Given the description of an element on the screen output the (x, y) to click on. 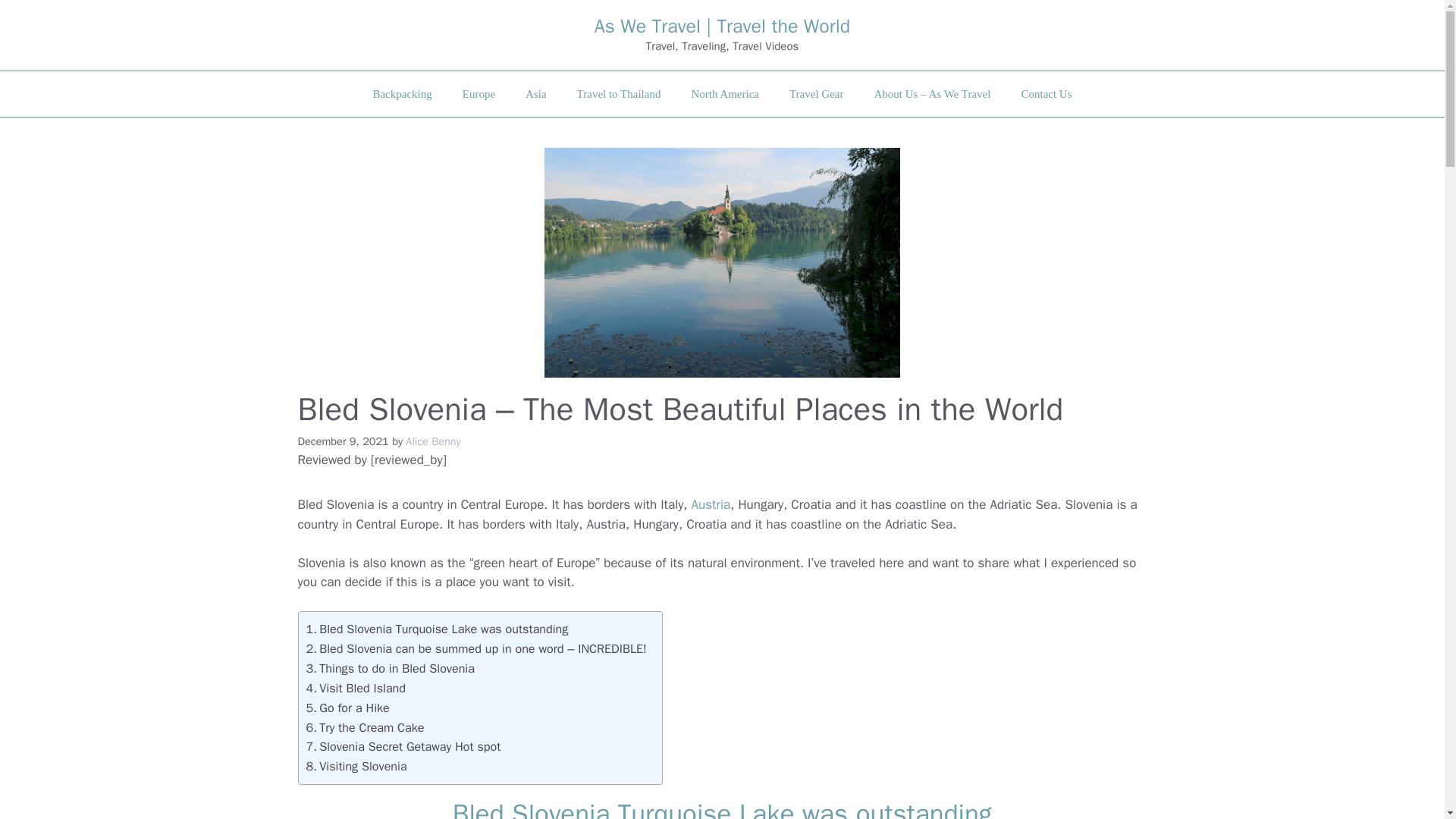
Go for a Hike (347, 708)
North America (724, 94)
Visiting Slovenia (356, 766)
Alice Benny (433, 440)
Things to do in Bled Slovenia (389, 668)
Travel to Thailand (619, 94)
Slovenia Secret Getaway Hot spot (402, 746)
Visit Bled Island (355, 688)
Travel Gear (816, 94)
Go for a Hike (347, 708)
Bled Slovenia Turquoise Lake was outstanding (437, 629)
Contact Us (1046, 94)
View all posts by Alice Benny (433, 440)
Try the Cream Cake (365, 727)
Visit Bled Island (355, 688)
